Given the description of an element on the screen output the (x, y) to click on. 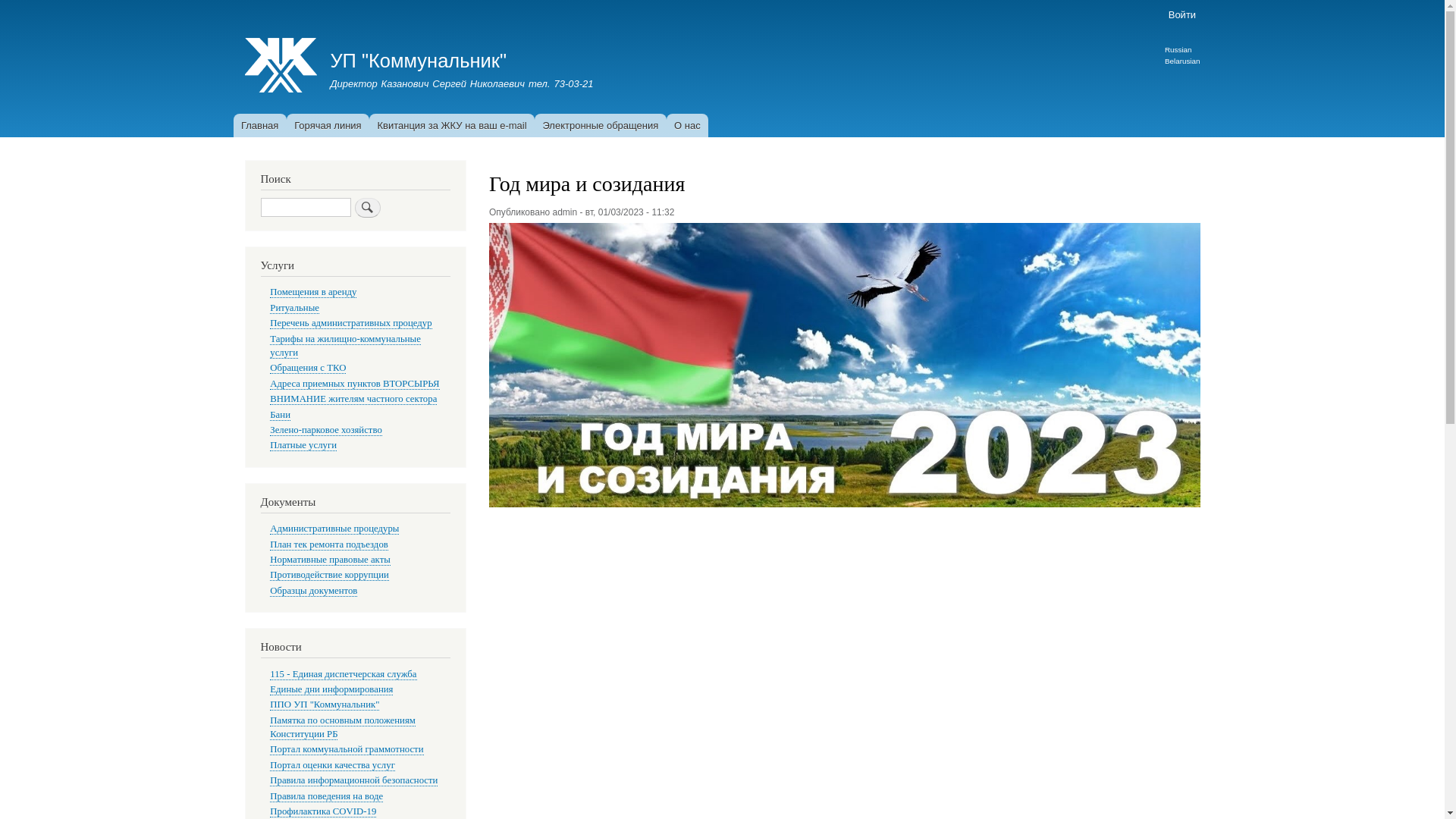
Russian Element type: text (1178, 49)
Belarusian Element type: text (1182, 60)
